Given the description of an element on the screen output the (x, y) to click on. 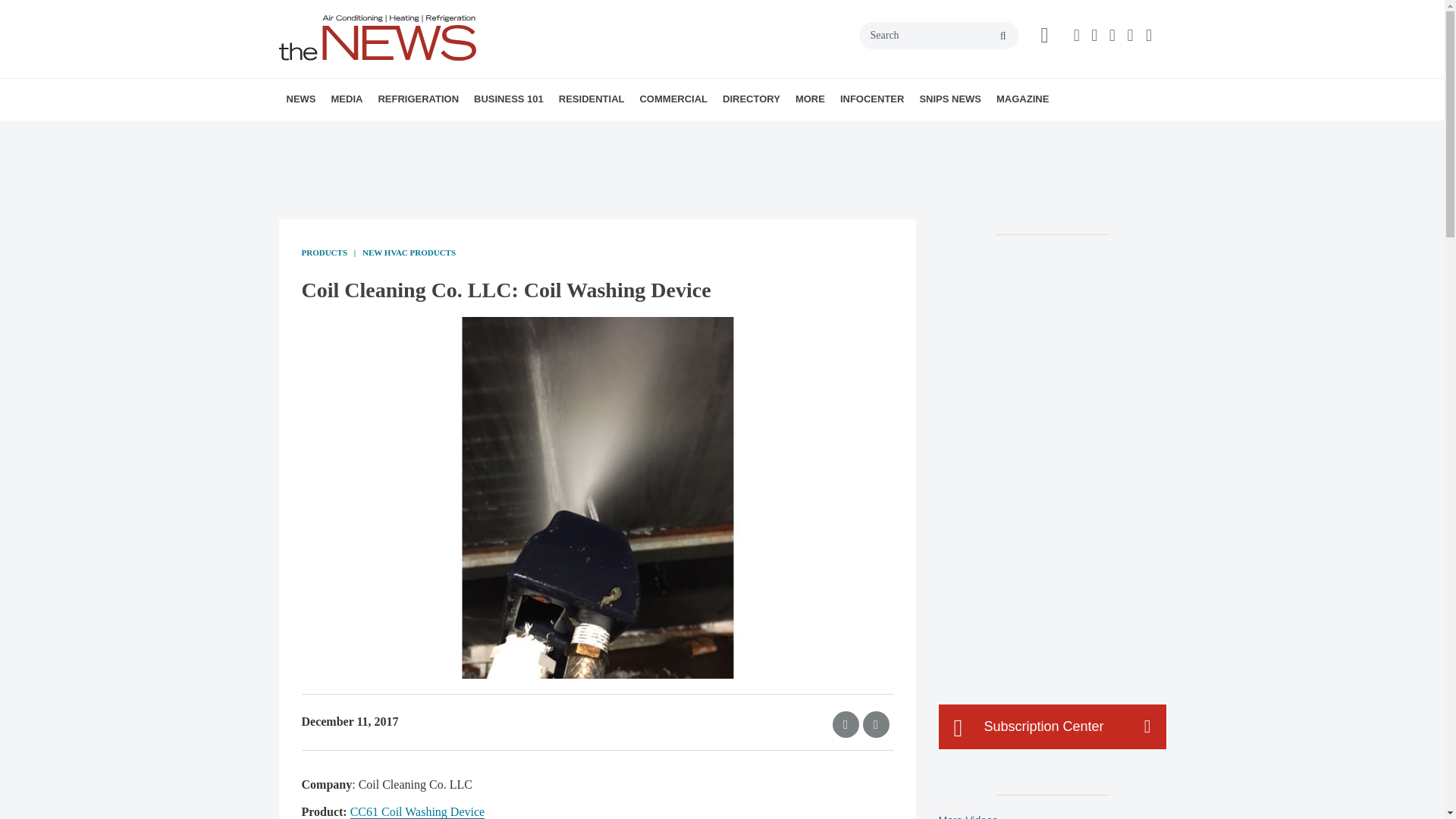
search (1002, 36)
PODCASTS (430, 132)
REFRIGERATION (417, 98)
HVAC DATA (391, 132)
THE NEWS HVACR QUIZ (445, 132)
BREAKING NEWS (373, 132)
WEBINARS (436, 132)
EBOOKS (442, 132)
REFRIGERANTS (464, 132)
AHR EXPO 2024 VIDEOS (424, 132)
ONLINE POLL (452, 132)
REFRIGERANT REGULATIONS (472, 132)
FROSTLINES (478, 132)
VIDEOS (417, 132)
BUSINESS 101 (508, 98)
